Given the description of an element on the screen output the (x, y) to click on. 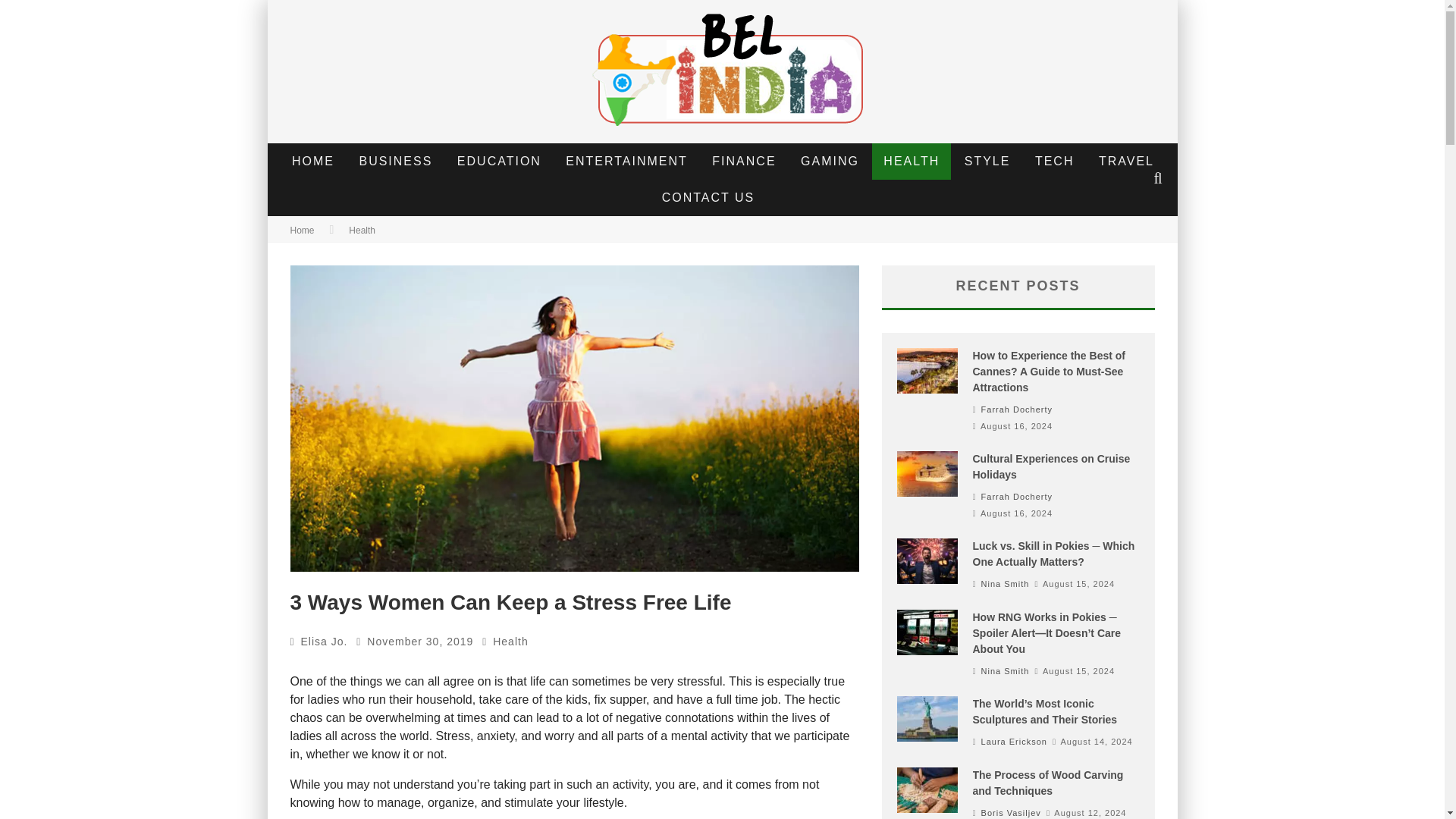
View all posts in Health (510, 641)
Elisa Jo. (324, 641)
ENTERTAINMENT (626, 161)
Health (362, 230)
GAMING (829, 161)
CONTACT US (708, 197)
HEALTH (911, 161)
BUSINESS (395, 161)
Health (510, 641)
TRAVEL (1126, 161)
